Given the description of an element on the screen output the (x, y) to click on. 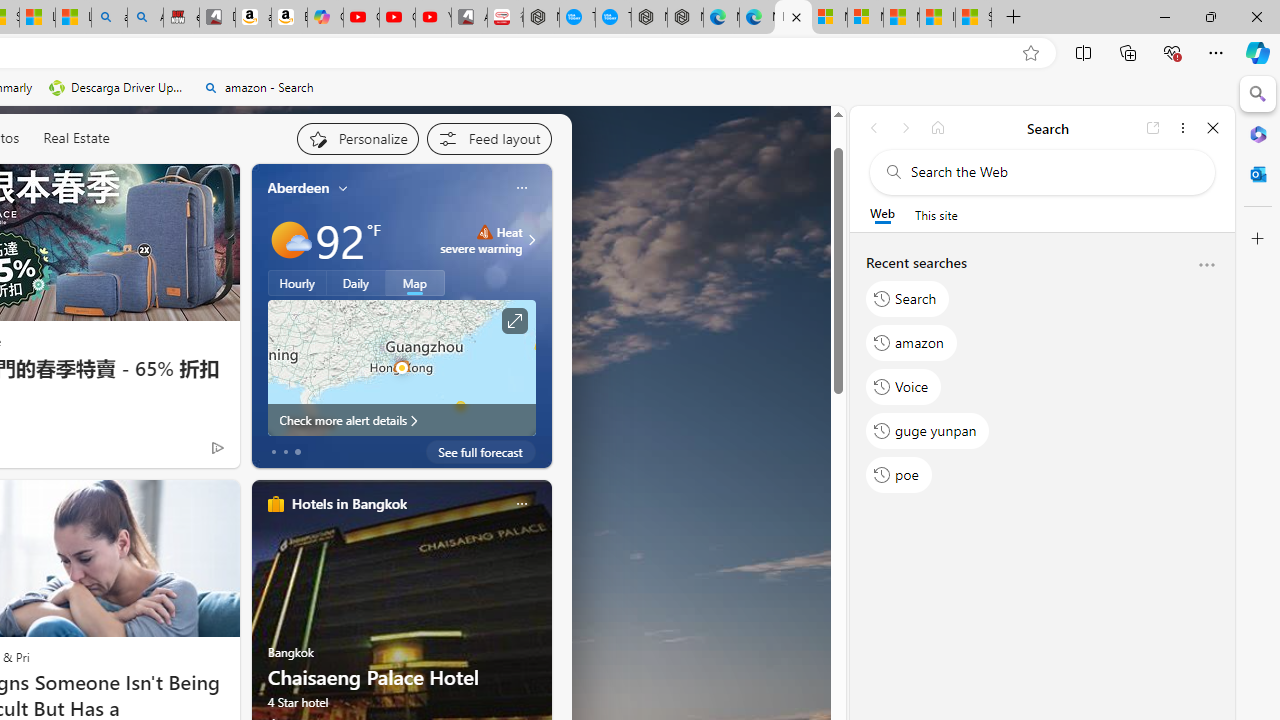
Search the web (1051, 172)
Hotels in Bangkok (348, 503)
Copilot (325, 17)
Map (415, 282)
Mostly sunny (289, 240)
Forward (906, 127)
